Given the description of an element on the screen output the (x, y) to click on. 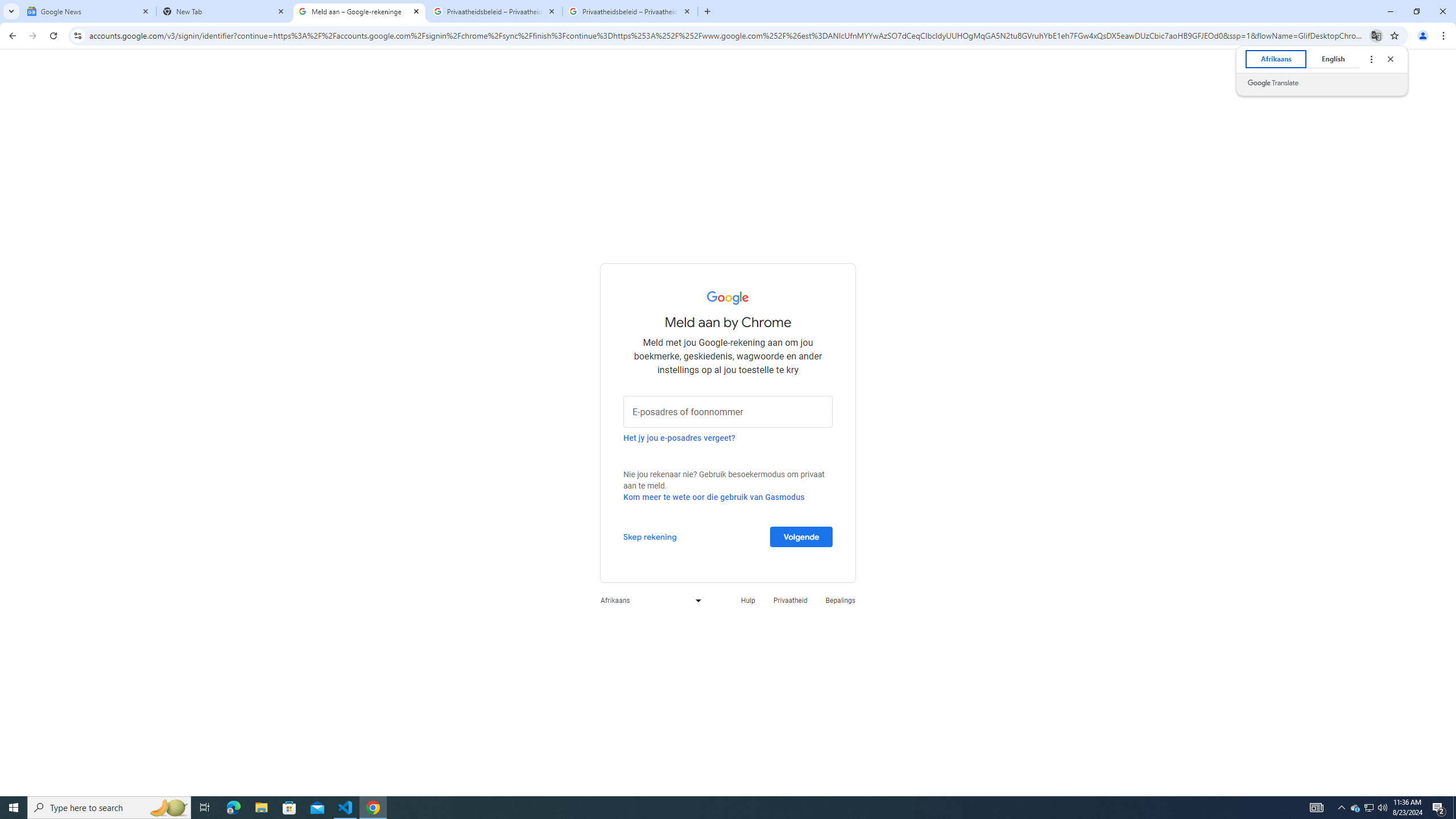
Google Chrome - 1 running window (373, 807)
File Explorer (261, 807)
Q2790: 100% (1382, 807)
Bepalings (1368, 807)
